Given the description of an element on the screen output the (x, y) to click on. 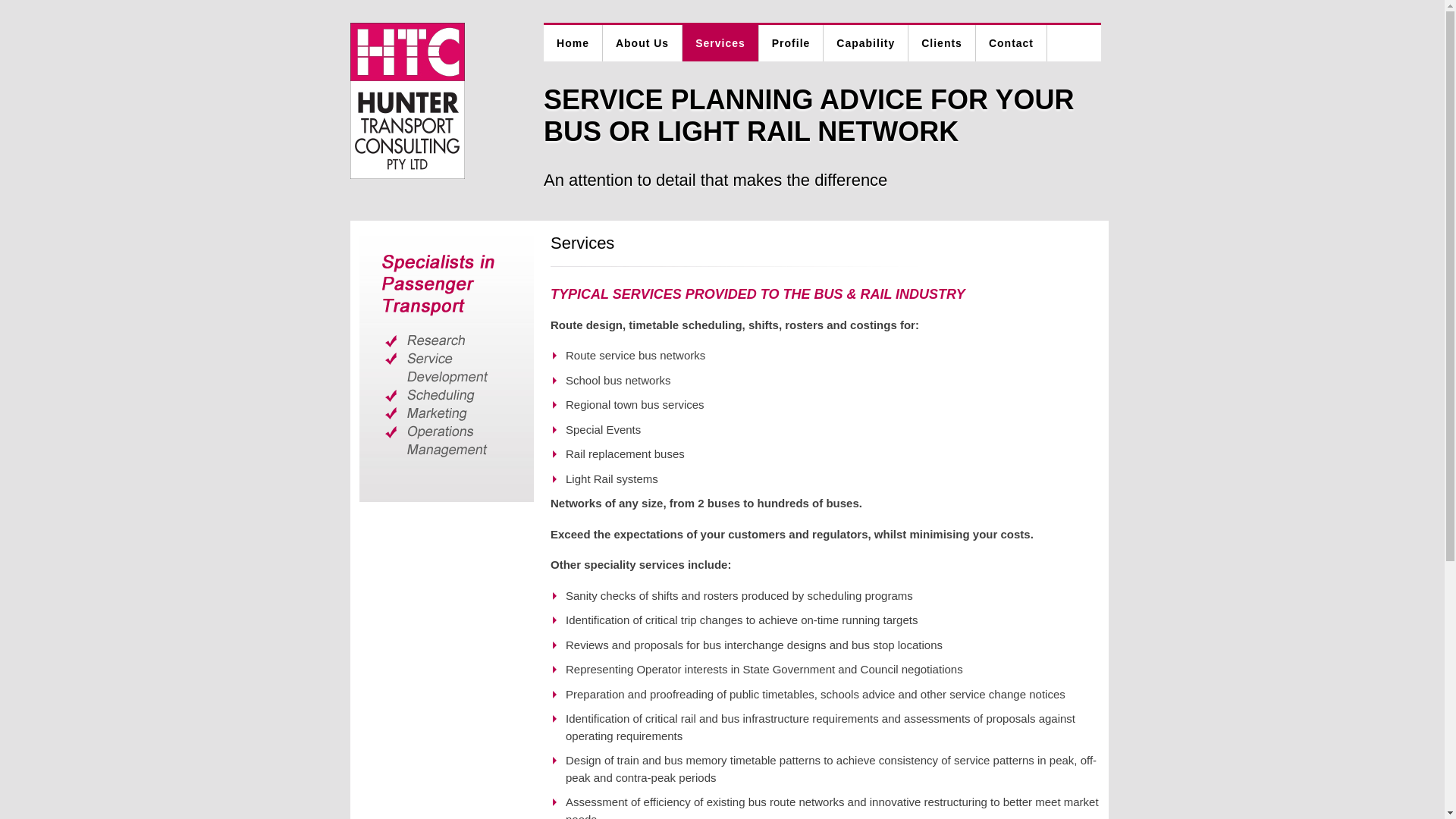
About Us Element type: text (642, 43)
Contact Element type: text (1011, 43)
Services Element type: text (720, 43)
Profile Element type: text (791, 43)
Clients Element type: text (941, 43)
Capability Element type: text (865, 43)
Home Element type: text (572, 43)
